Given the description of an element on the screen output the (x, y) to click on. 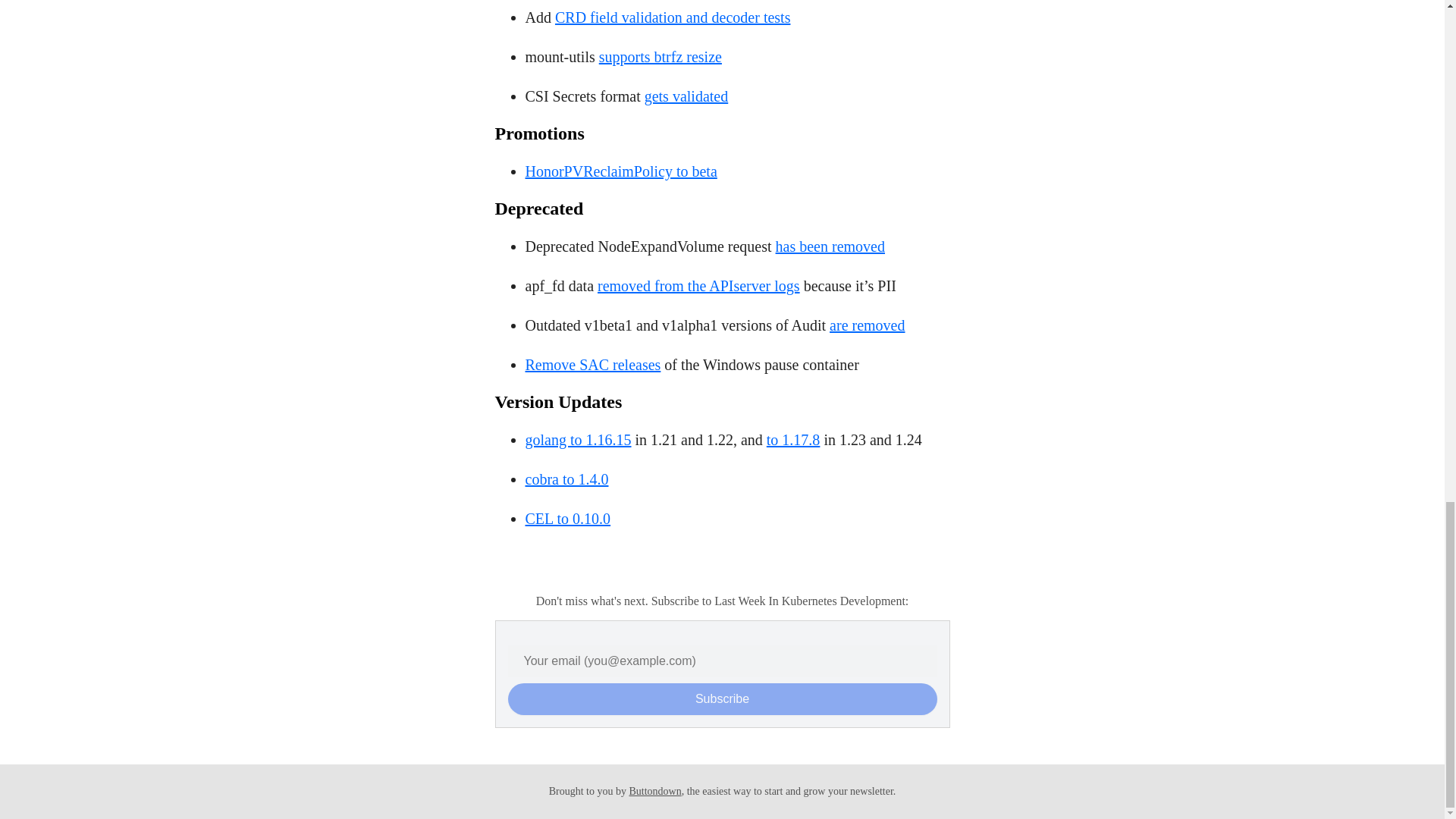
cobra to 1.4.0 (566, 478)
CEL to 0.10.0 (567, 518)
Buttondown (654, 790)
CRD field validation and decoder tests (672, 17)
Remove SAC releases (592, 364)
has been removed (830, 246)
HonorPVReclaimPolicy to beta (620, 170)
supports btrfz resize (660, 56)
gets validated (687, 95)
to 1.17.8 (794, 439)
